Given the description of an element on the screen output the (x, y) to click on. 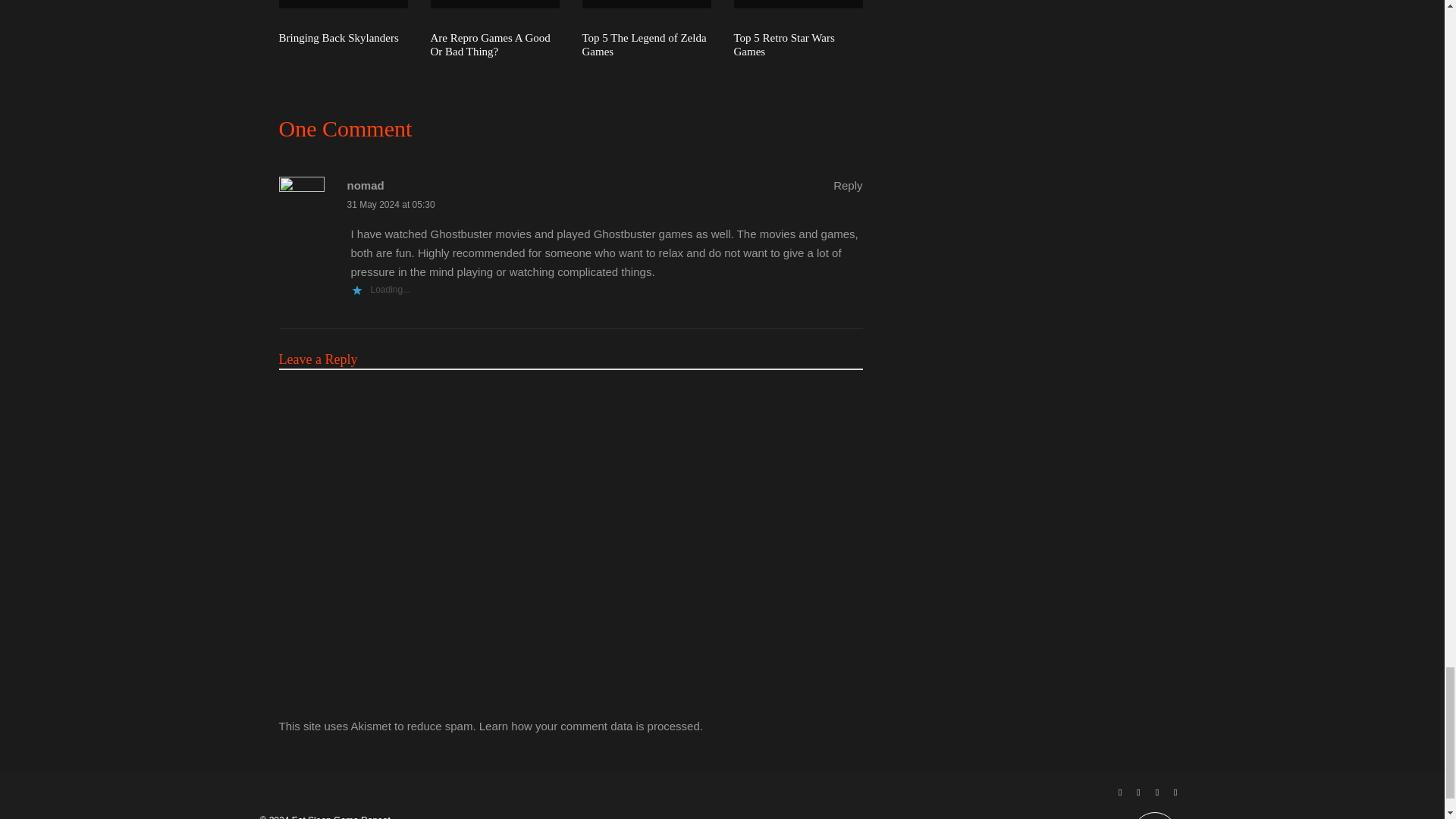
Bringing Back Skylanders  (340, 38)
Are Repro Games A Good Or Bad Thing? (494, 44)
